Given the description of an element on the screen output the (x, y) to click on. 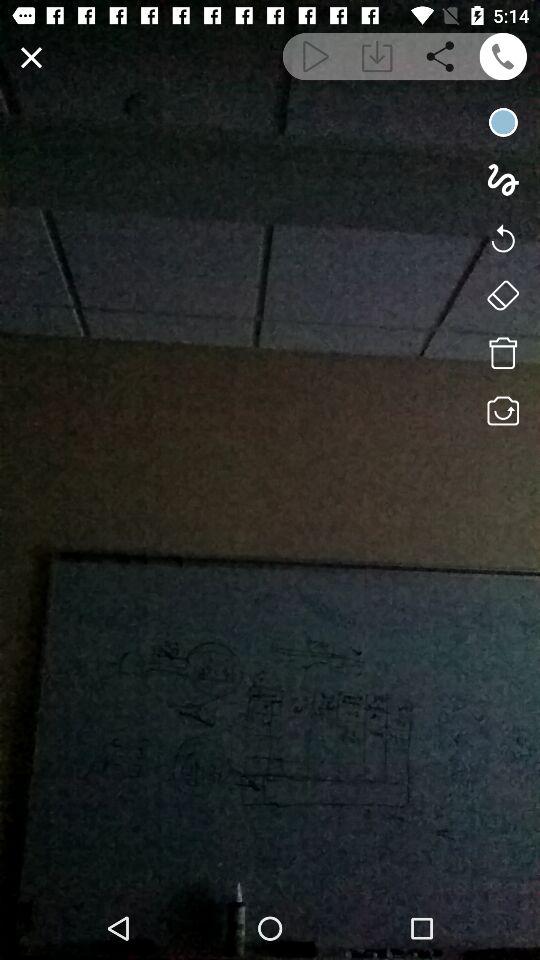
toggle drawing option (502, 179)
